Given the description of an element on the screen output the (x, y) to click on. 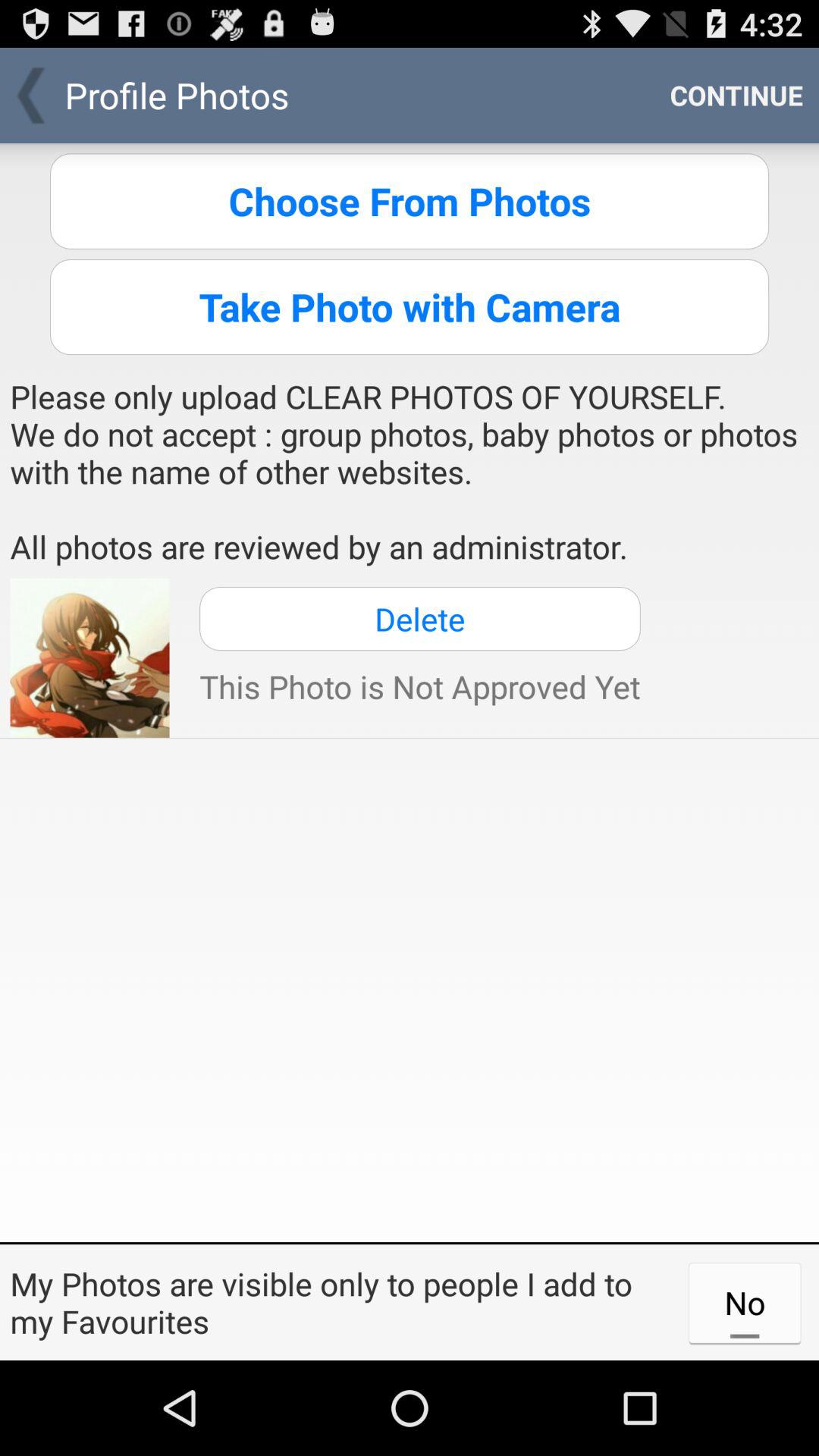
launch icon above choose from photos button (736, 95)
